Given the description of an element on the screen output the (x, y) to click on. 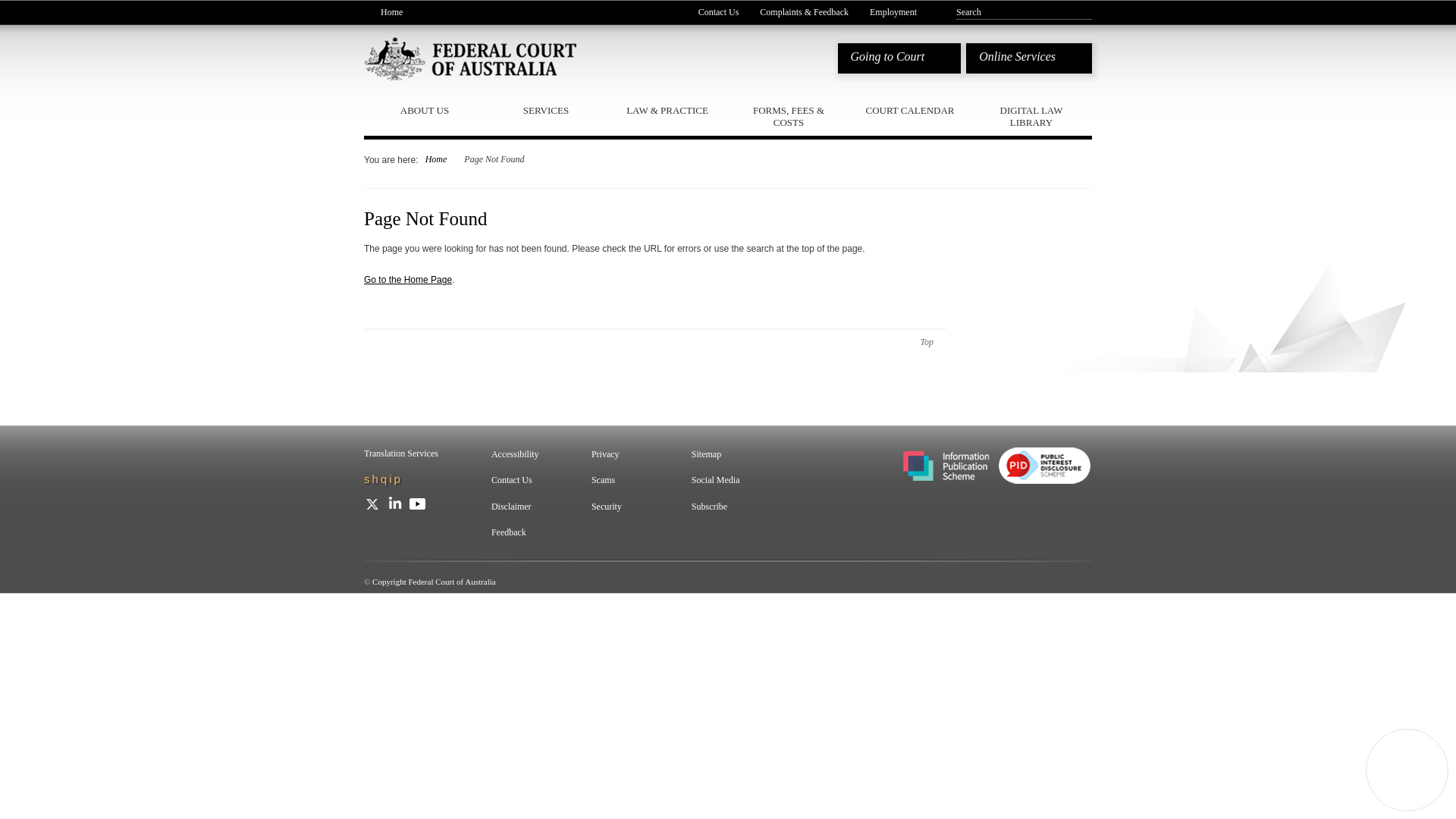
Online Services (1029, 58)
Home (383, 11)
Albanian (383, 478)
Employment (893, 11)
Going to Court (899, 58)
Search (1019, 11)
Contact Us (718, 11)
